Given the description of an element on the screen output the (x, y) to click on. 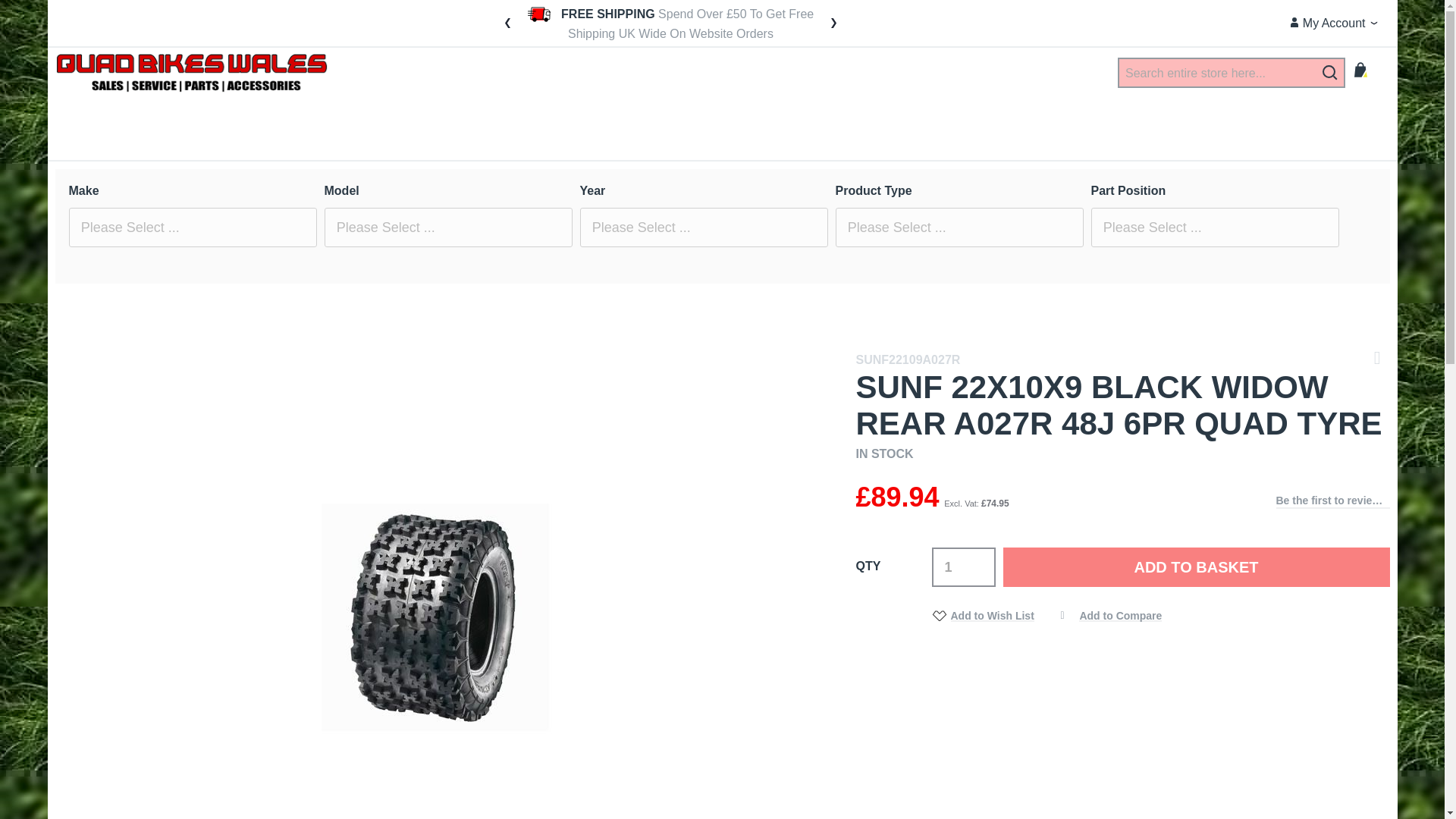
Add to Basket (1196, 567)
Qty (962, 567)
Availability (1122, 454)
My Basket (1370, 73)
My Account (1326, 23)
1 (962, 567)
My Account (1326, 23)
